Given the description of an element on the screen output the (x, y) to click on. 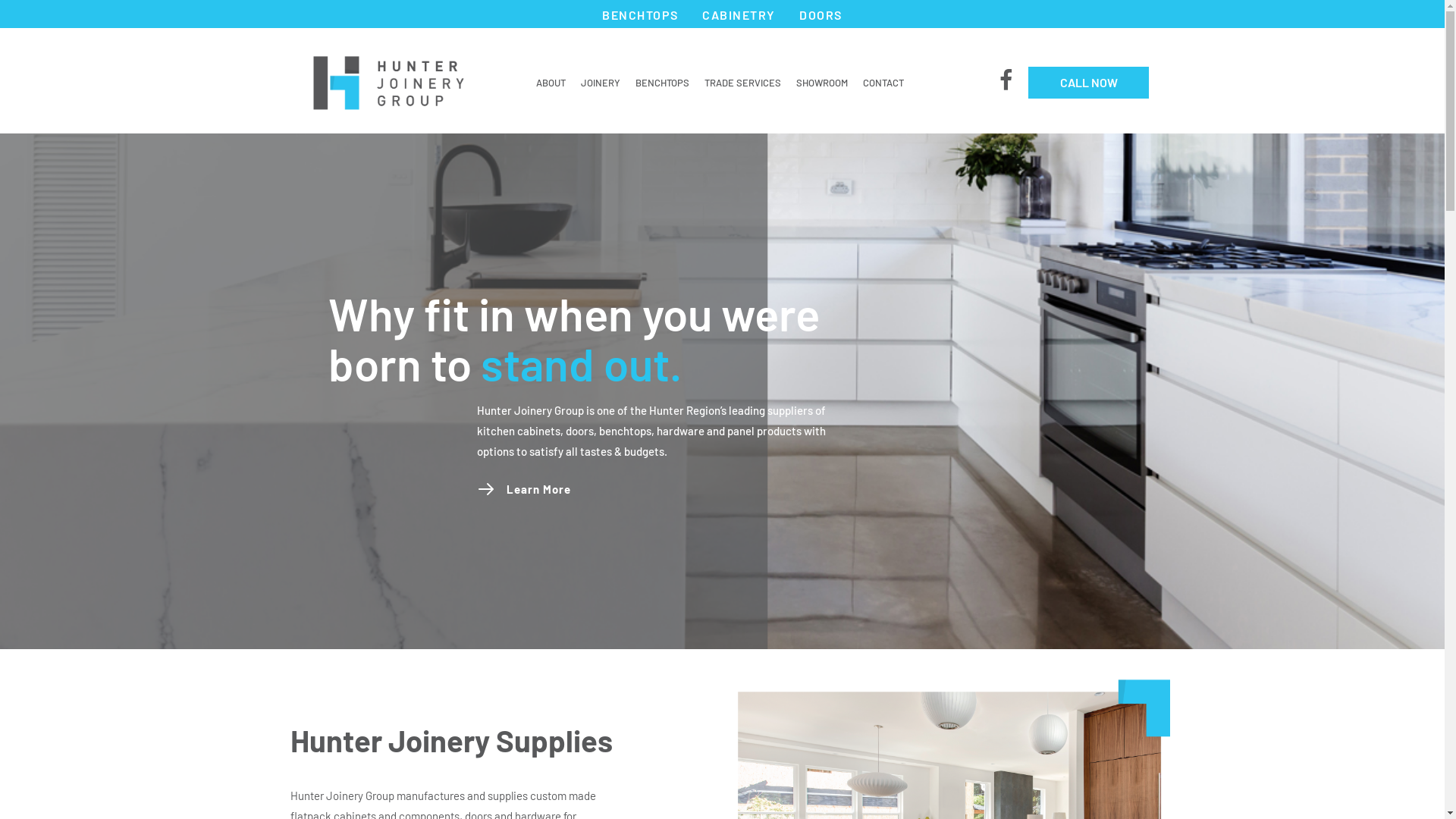
SHOWROOM Element type: text (821, 82)
BENCHTOPS Element type: text (661, 82)
JOINERY Element type: text (600, 82)
CABINETRY Element type: text (738, 14)
ABOUT Element type: text (550, 82)
stand out. Element type: text (580, 362)
CONTACT Element type: text (883, 82)
Learn More Element type: text (538, 489)
Logo Element type: hover (387, 82)
CALL NOW Element type: text (1088, 82)
BENCHTOPS Element type: text (640, 14)
TRADE SERVICES Element type: text (742, 82)
DOORS Element type: text (820, 14)
